Given the description of an element on the screen output the (x, y) to click on. 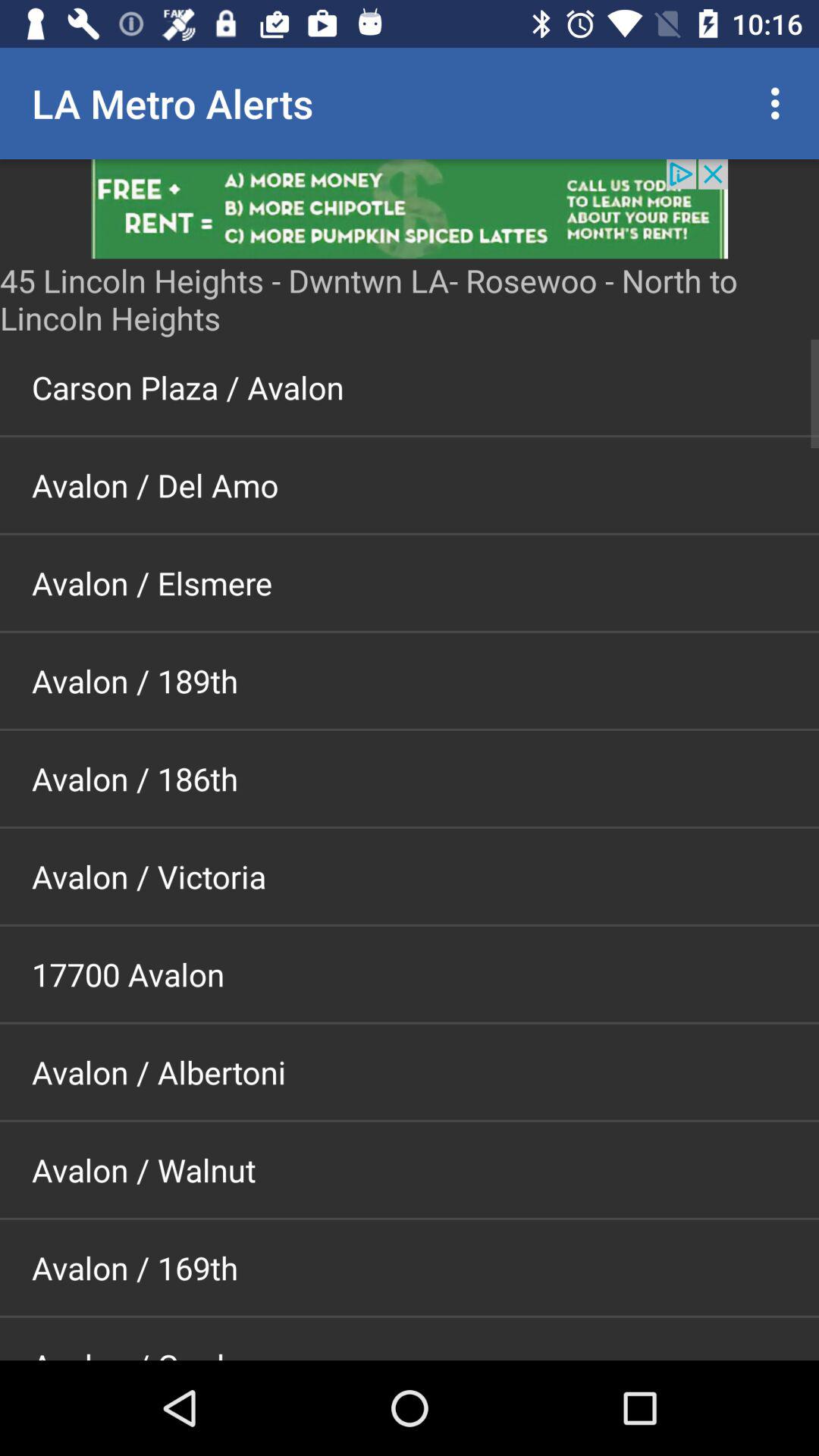
adverts (409, 208)
